Given the description of an element on the screen output the (x, y) to click on. 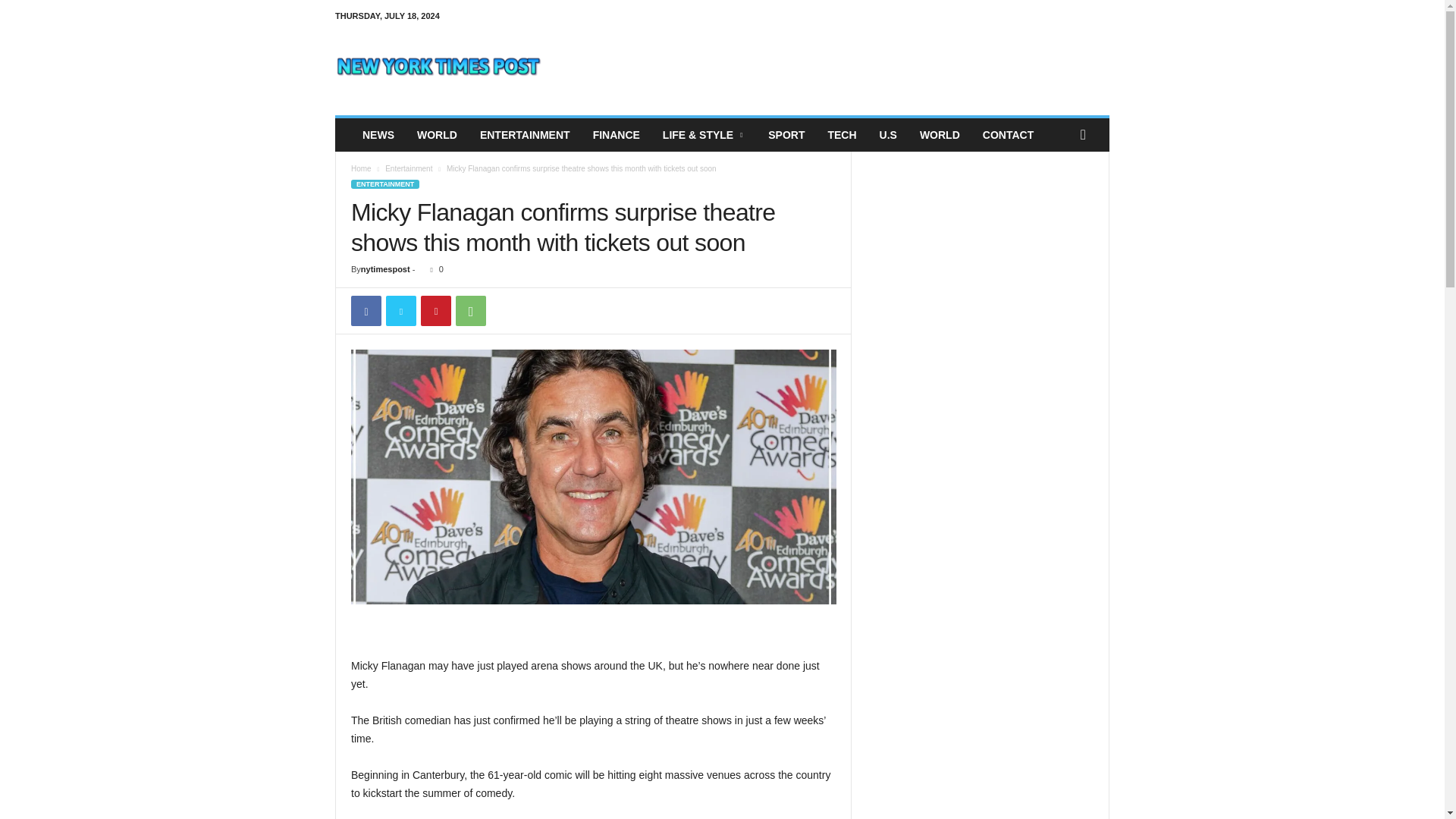
WhatsApp (470, 310)
nytimespost (385, 268)
WORLD (437, 134)
New York Times Post (437, 65)
ENTERTAINMENT (384, 184)
Entertainment (408, 168)
0 (432, 268)
Facebook (365, 310)
View all posts in Entertainment (408, 168)
Home (360, 168)
NEWS (378, 134)
WORLD (939, 134)
Twitter (400, 310)
TECH (841, 134)
